Given the description of an element on the screen output the (x, y) to click on. 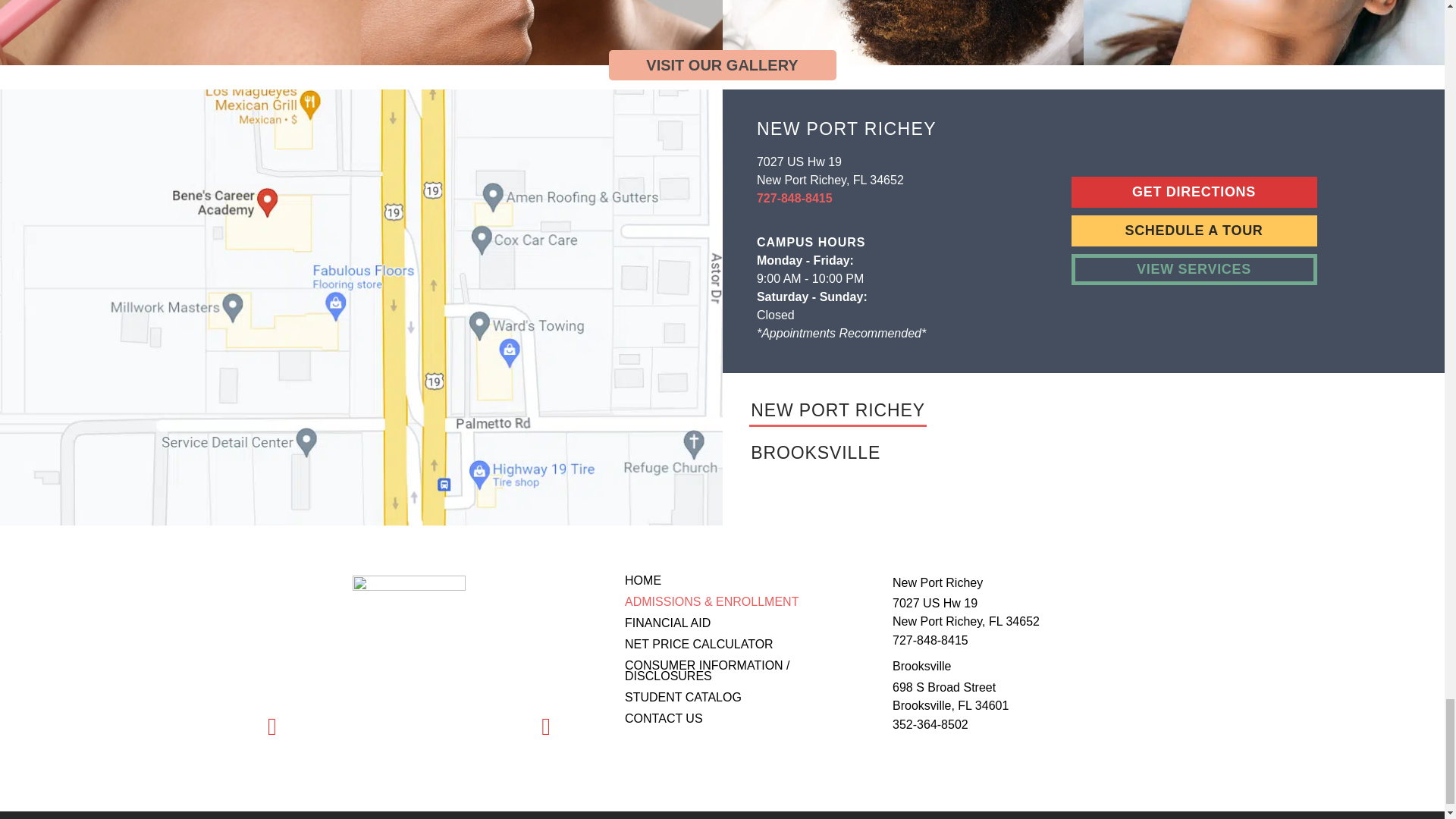
Click to Call (794, 198)
Click to Show Full Info (838, 409)
Visit New Port Richey Page (1193, 192)
Click to Show Full Info (815, 450)
